Given the description of an element on the screen output the (x, y) to click on. 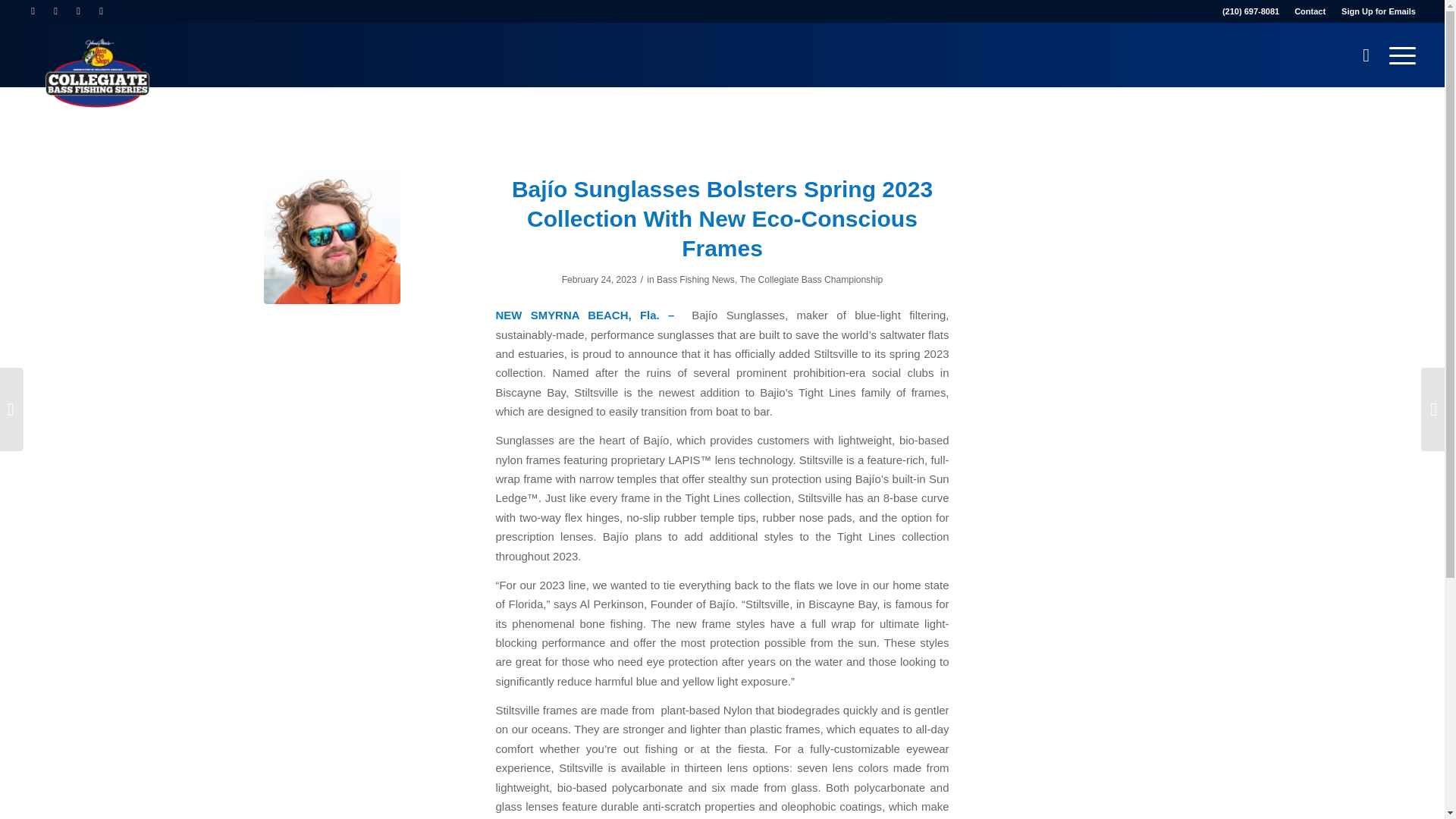
Sign Up for Emails (1377, 11)
BAJIO NEW FRAME (331, 235)
Twitter (101, 11)
Tiktok (124, 11)
Contact (1309, 11)
Instagram (77, 11)
Youtube (55, 11)
Facebook (32, 11)
